Given the description of an element on the screen output the (x, y) to click on. 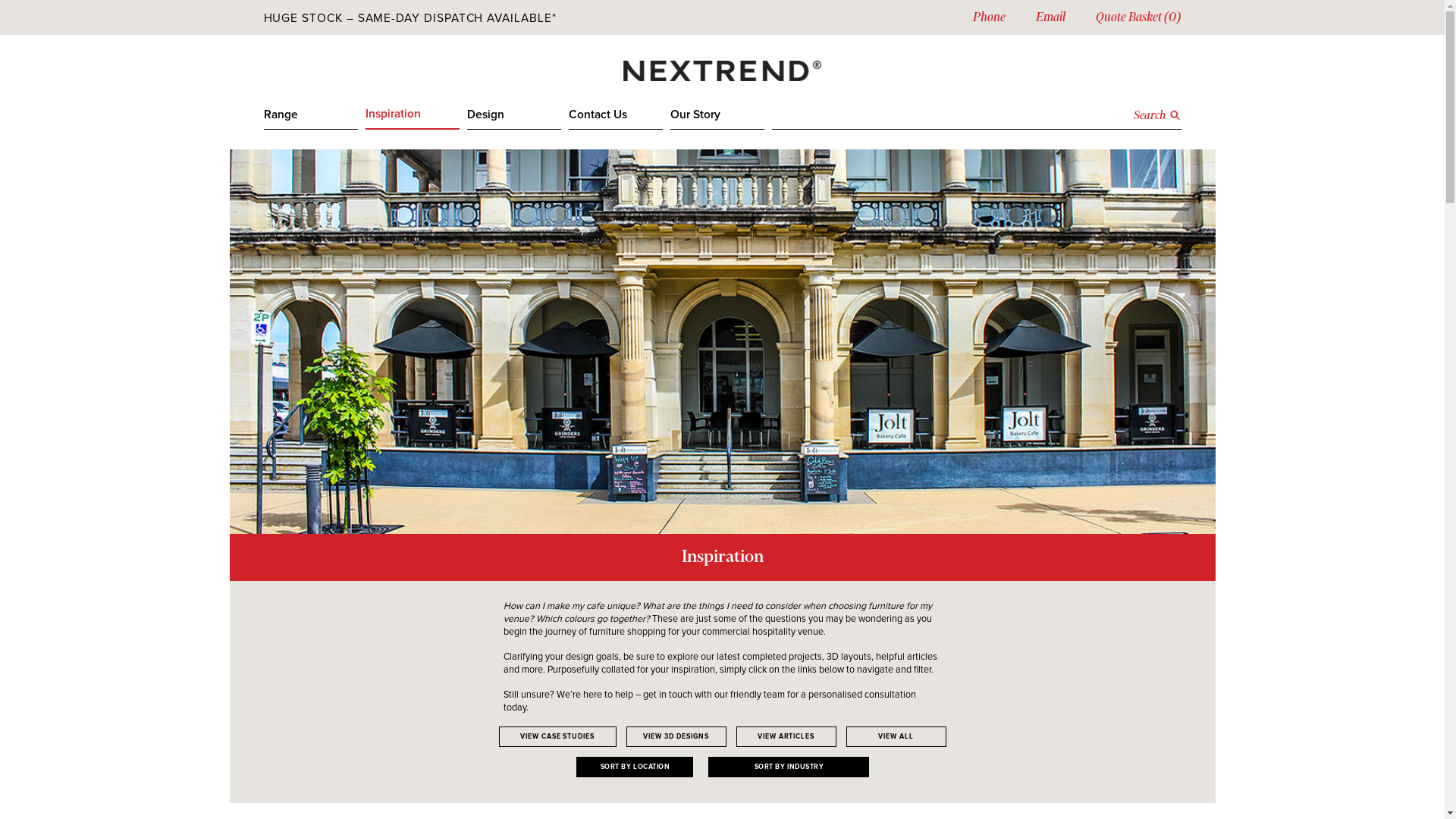
VIEW ALL Element type: text (896, 736)
VIEW 3D DESIGNS Element type: text (676, 736)
Design Element type: text (514, 119)
Inspiration Element type: text (412, 118)
Contact Us Element type: text (615, 119)
Range Element type: text (310, 119)
Our Story Element type: text (717, 119)
Email Element type: text (1050, 17)
VIEW CASE STUDIES Element type: text (557, 736)
VIEW ARTICLES Element type: text (785, 736)
